Given the description of an element on the screen output the (x, y) to click on. 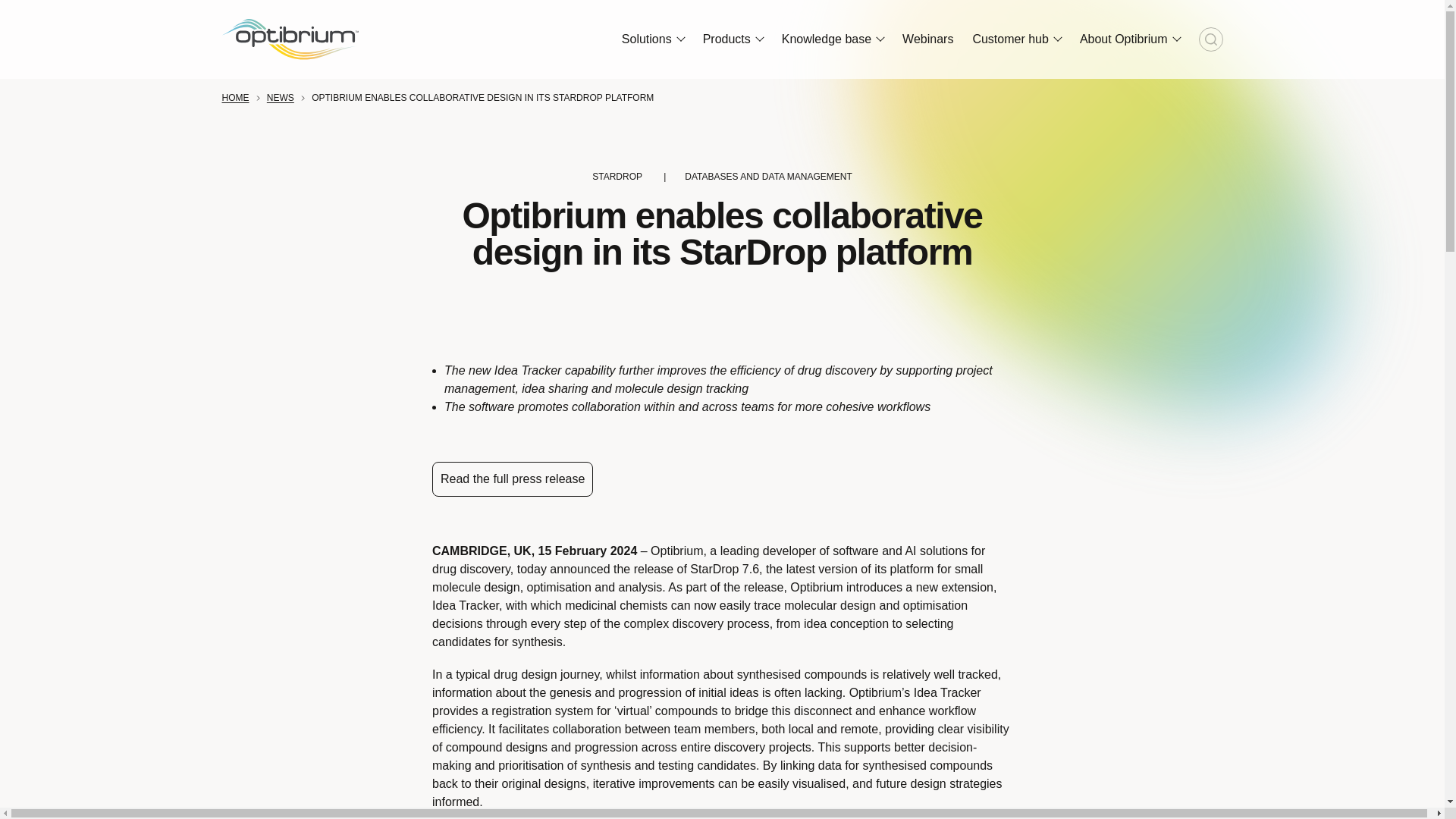
Customer hub (1016, 39)
Optibrium (289, 38)
Webinars (927, 38)
Solutions (652, 39)
Products (732, 39)
Knowledge base (832, 39)
